Given the description of an element on the screen output the (x, y) to click on. 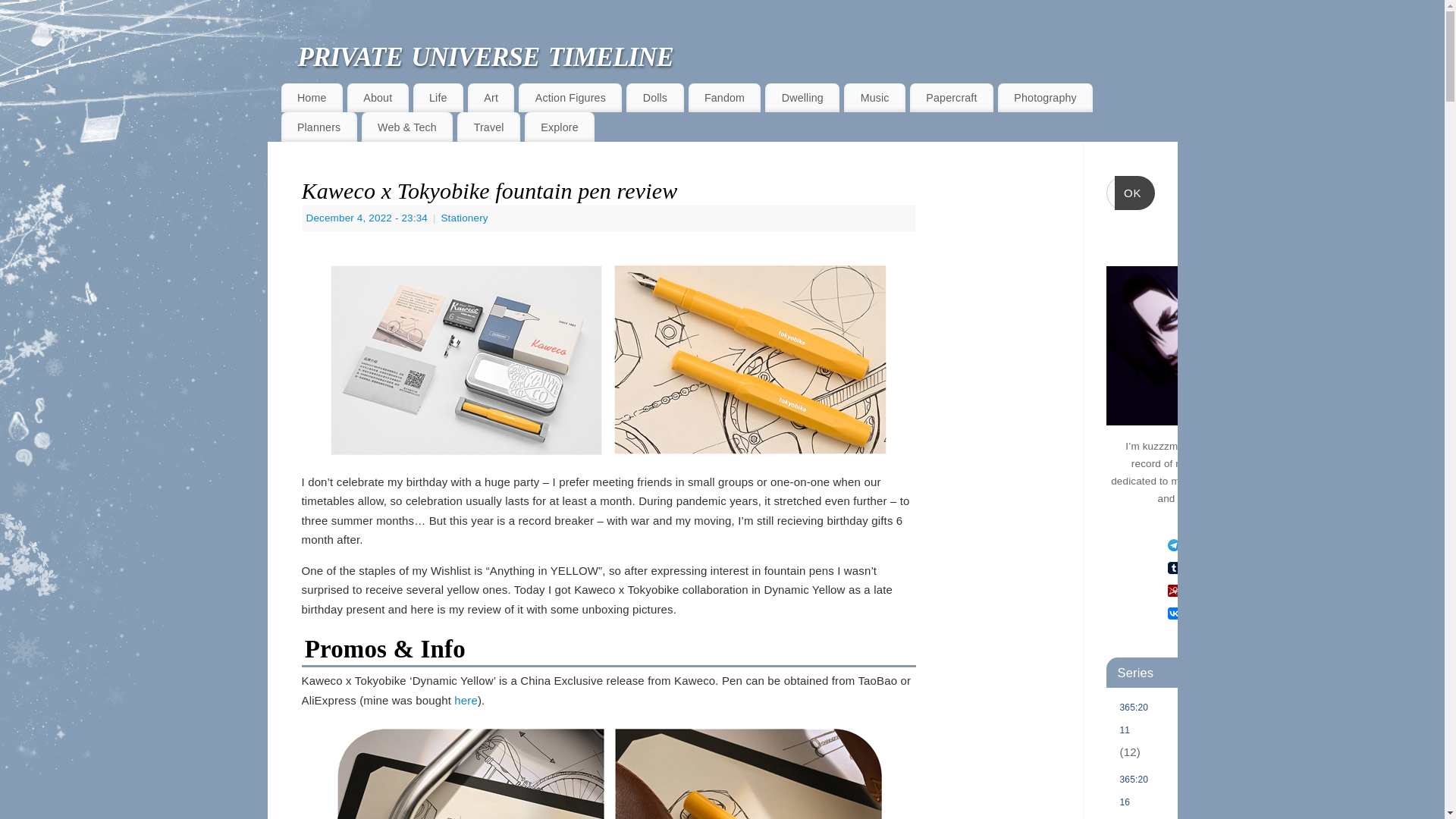
private universe timeline (736, 53)
Art (490, 97)
Travel (488, 126)
Stationery (464, 217)
Papercraft (951, 97)
Home (311, 97)
private universe timeline (736, 53)
About (378, 97)
Planners (318, 126)
Photography (1045, 97)
here (465, 699)
Dolls (654, 97)
Action Figures (569, 97)
December 4, 2022 - 23:34 (366, 217)
Music (874, 97)
